Given the description of an element on the screen output the (x, y) to click on. 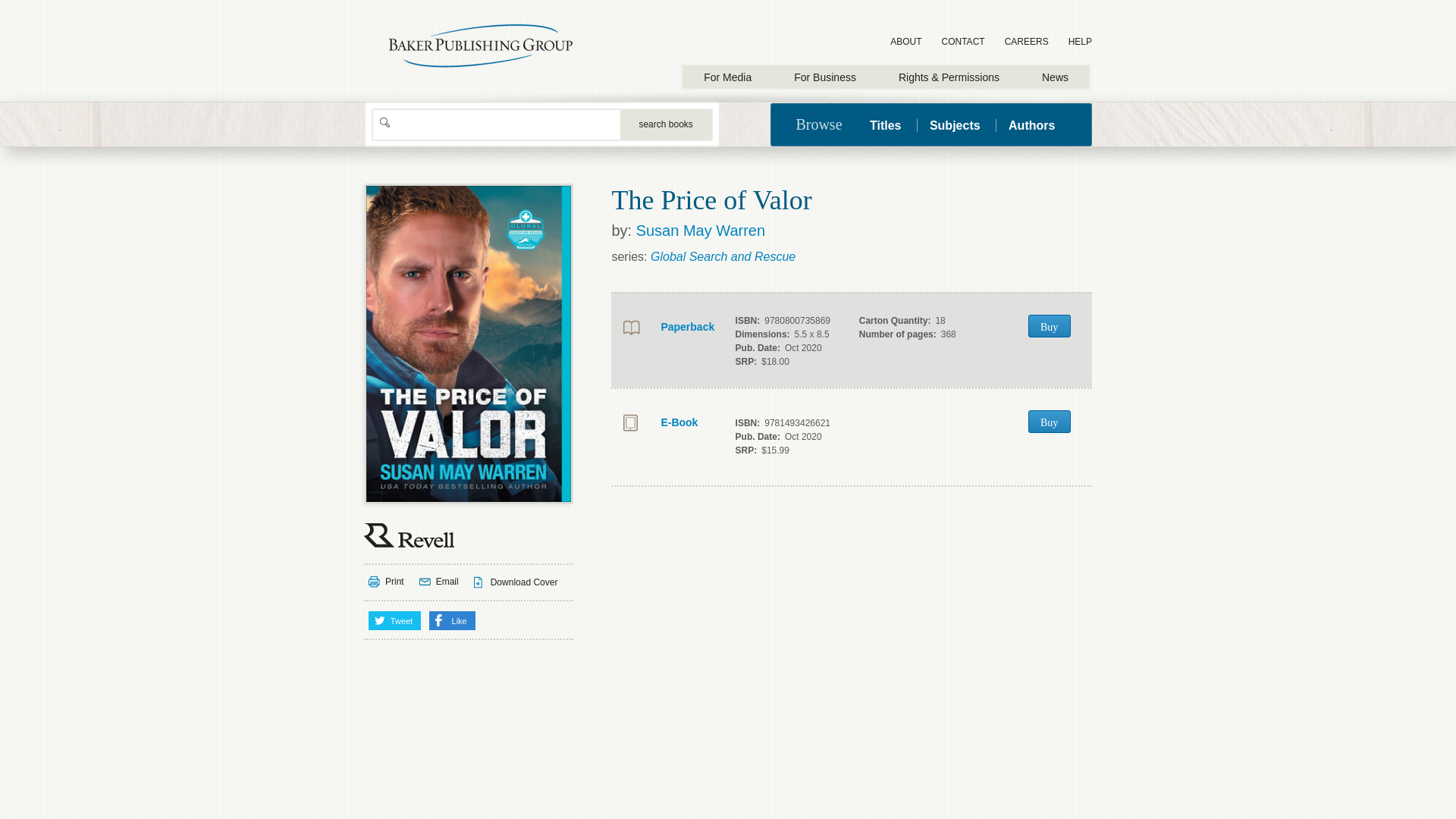
Baker Publishing Group (480, 45)
Search Books (665, 124)
Print (386, 581)
For Media (727, 76)
Paperback (665, 327)
Buy (1048, 325)
HELP (1080, 41)
Download Cover (515, 582)
News (1054, 76)
CONTACT (963, 41)
Titles (891, 124)
Buy (1048, 421)
ABOUT (905, 41)
Authors (1031, 124)
Susan May Warren (700, 230)
